Given the description of an element on the screen output the (x, y) to click on. 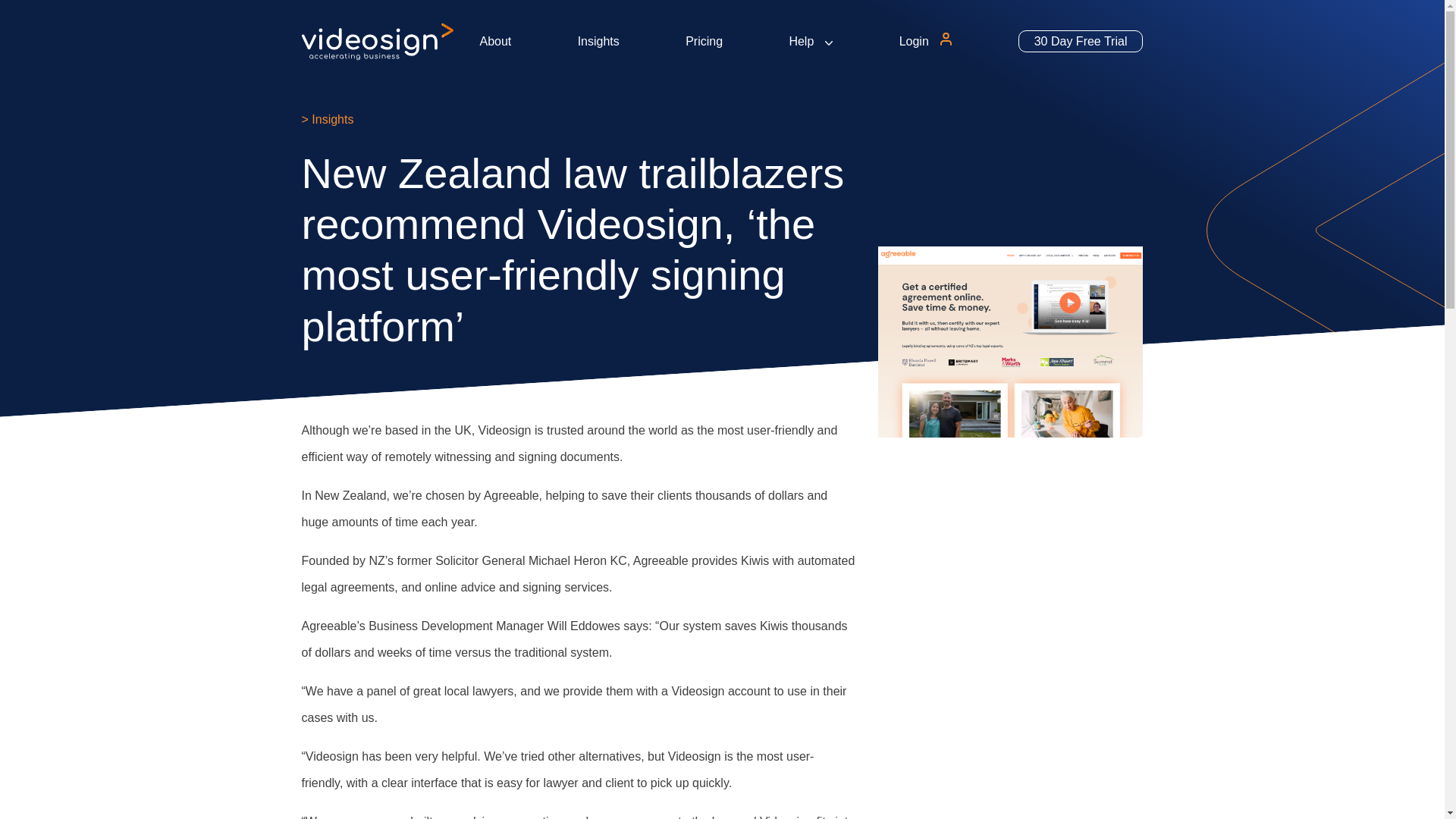
Login (913, 41)
About (495, 41)
Pricing (703, 41)
30 Day Free Trial (1079, 41)
Help (801, 41)
Insights (599, 41)
